Given the description of an element on the screen output the (x, y) to click on. 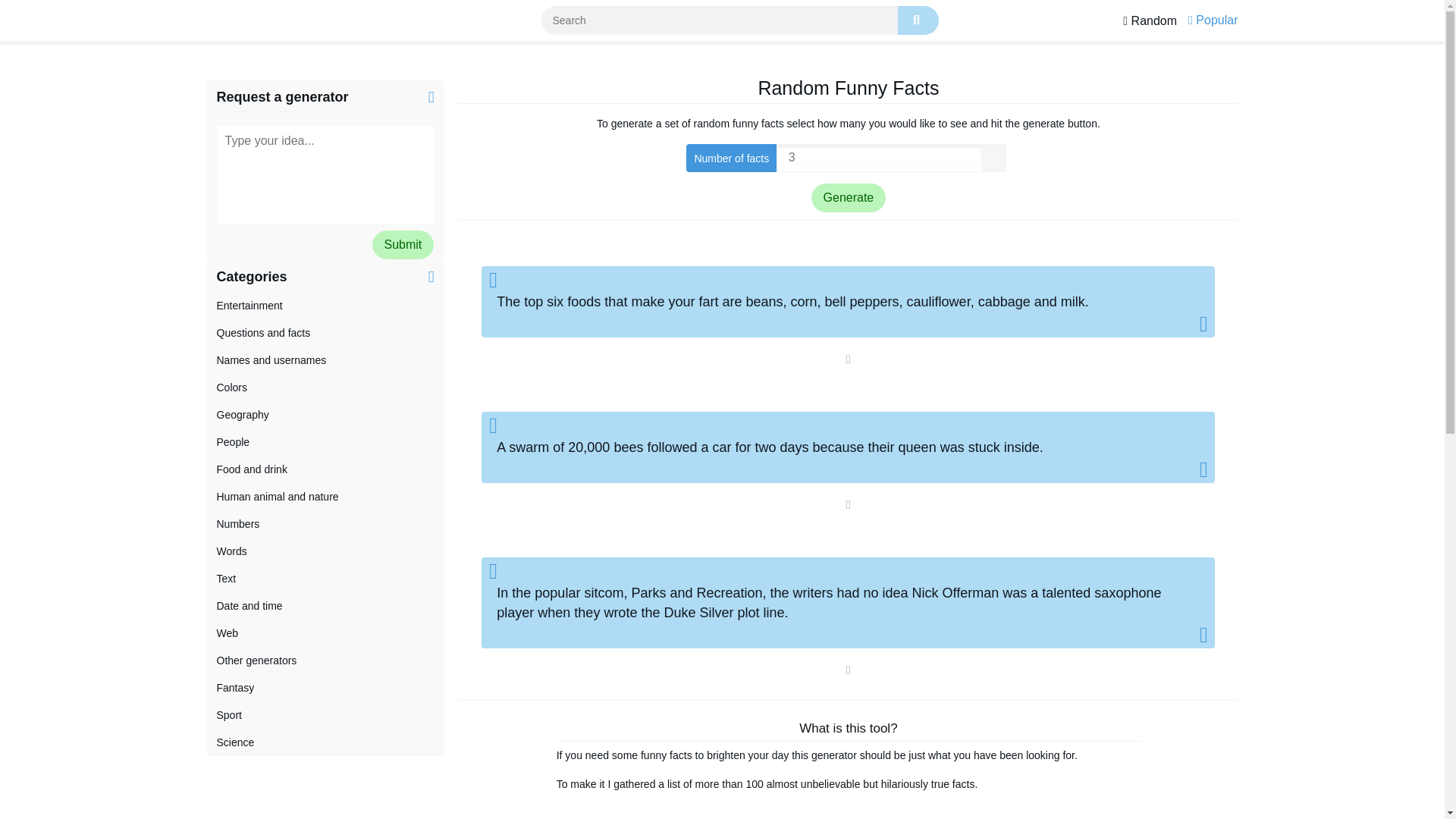
Words (325, 551)
Random generator (1149, 20)
Submit (402, 244)
People (325, 441)
3 (891, 157)
Generate (848, 197)
Entertainment (325, 305)
Sport (325, 714)
Fantasy (325, 687)
Science (325, 741)
